Given the description of an element on the screen output the (x, y) to click on. 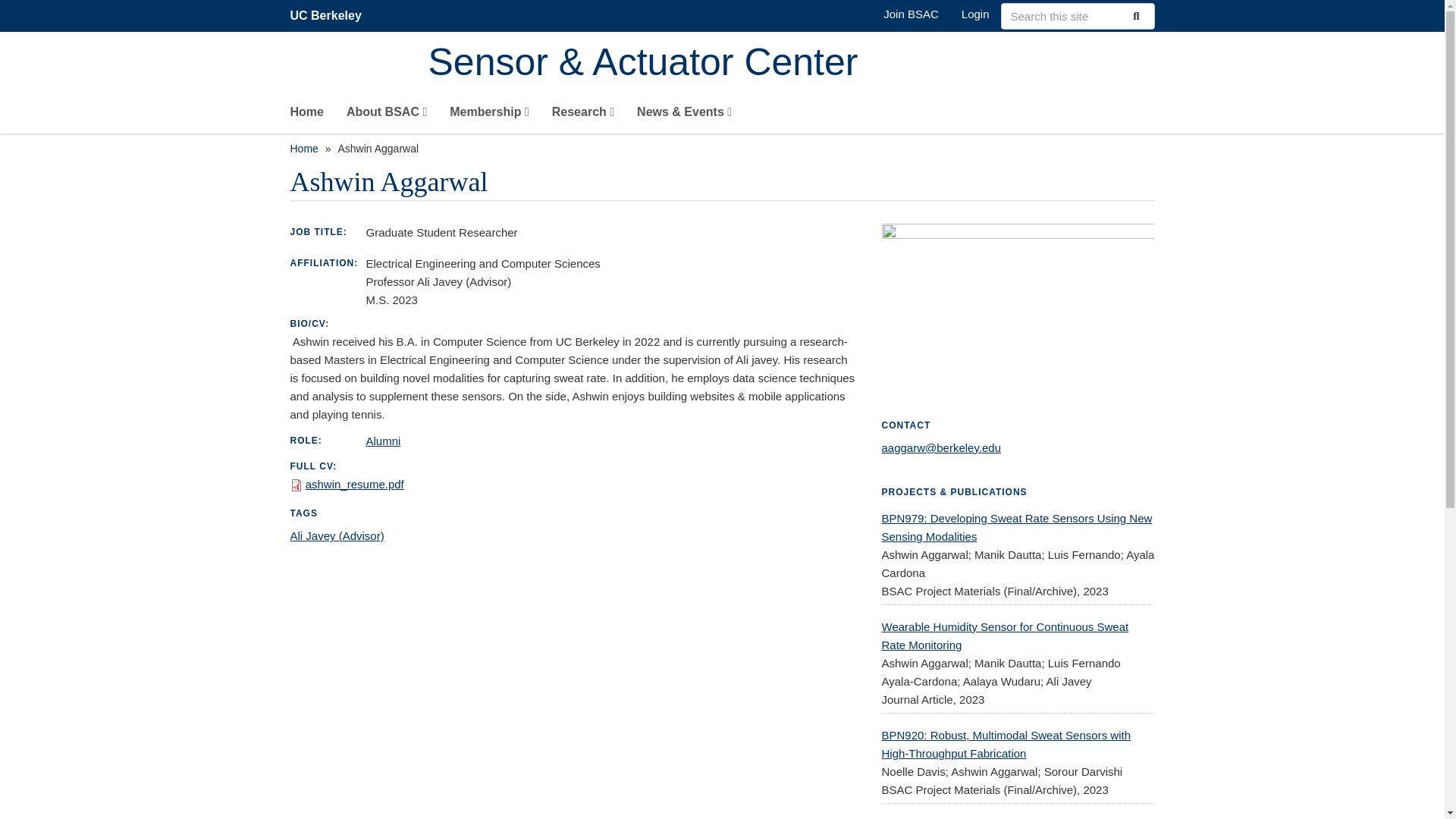
Home (306, 115)
Login (975, 14)
Research (582, 115)
Join BSAC (911, 14)
Alumni (382, 440)
About BSAC (386, 115)
Membership (489, 115)
Submit Search (1133, 15)
Home (791, 63)
UC Berkeley (325, 15)
Home (303, 148)
